Given the description of an element on the screen output the (x, y) to click on. 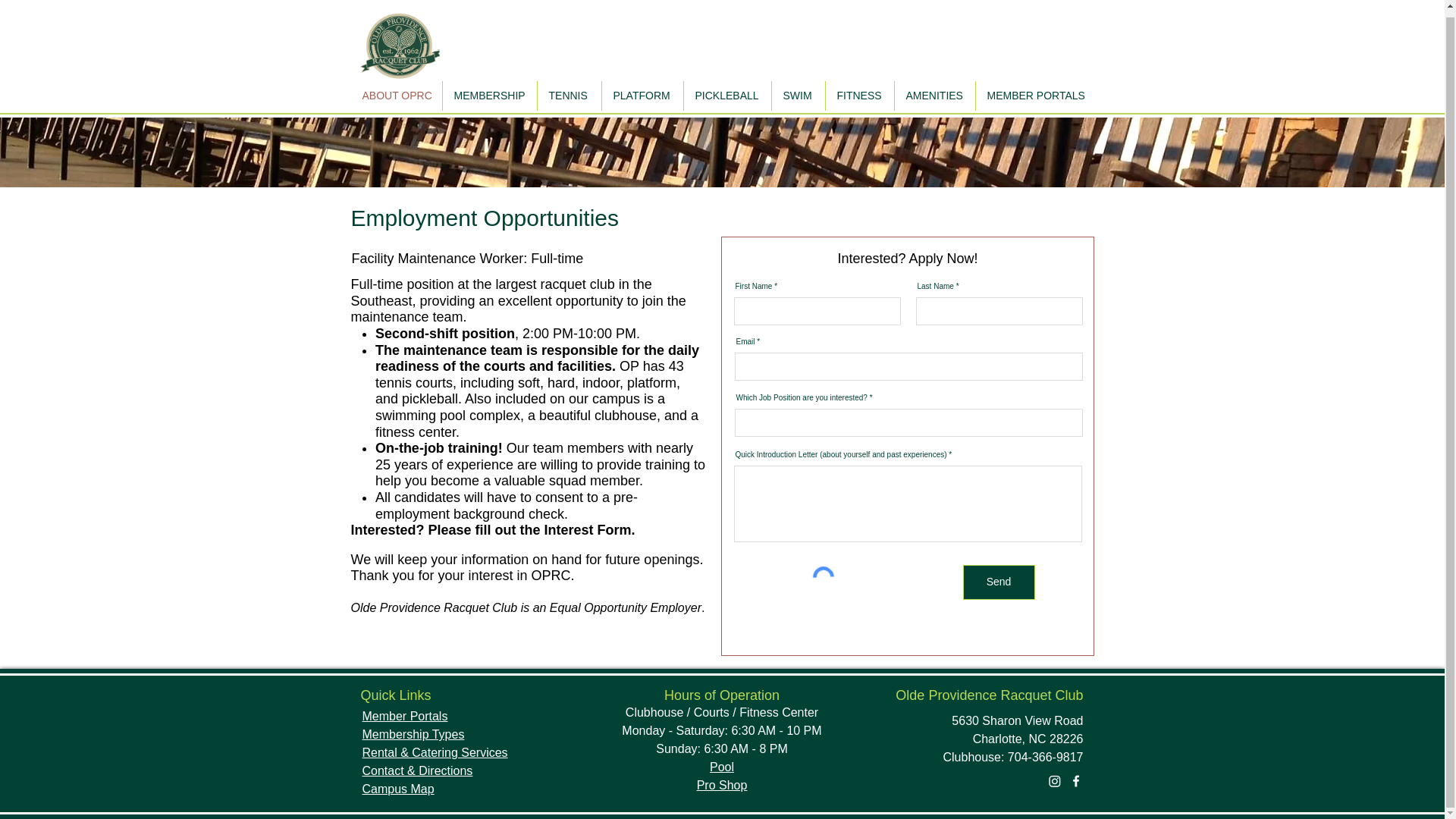
Send (998, 582)
Pool (721, 766)
Member Portals (405, 716)
PICKLEBALL (727, 89)
Campus Map (397, 788)
Quick Links (395, 694)
SWIM (798, 89)
MEMBER PORTALS (1034, 89)
Membership Types (413, 734)
FITNESS (859, 89)
